Given the description of an element on the screen output the (x, y) to click on. 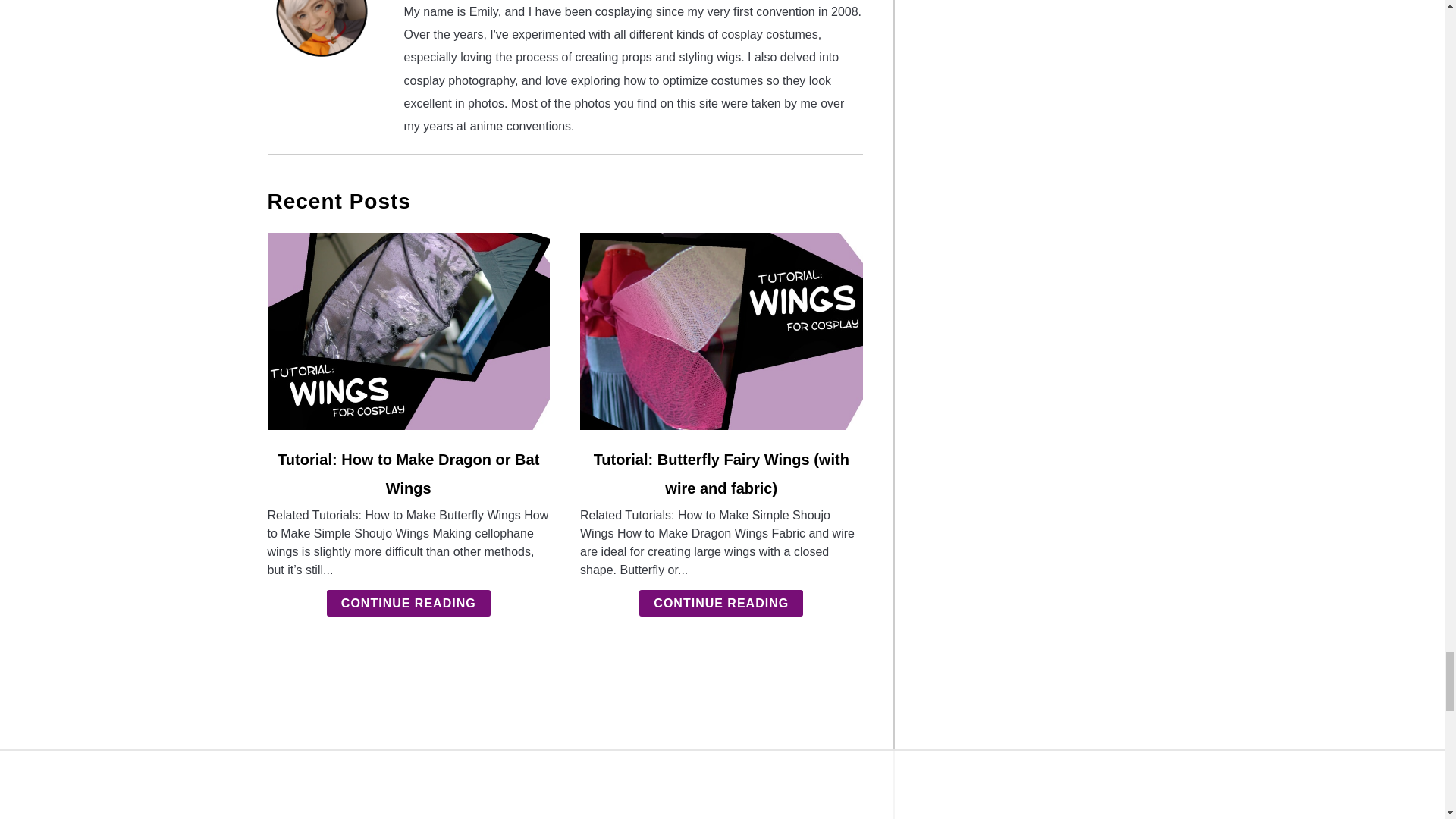
link to Tutorial: How to Make Dragon or Bat Wings (408, 330)
CONTINUE READING (408, 602)
Tutorial: How to Make Dragon or Bat Wings (408, 473)
CONTINUE READING (721, 602)
